Given the description of an element on the screen output the (x, y) to click on. 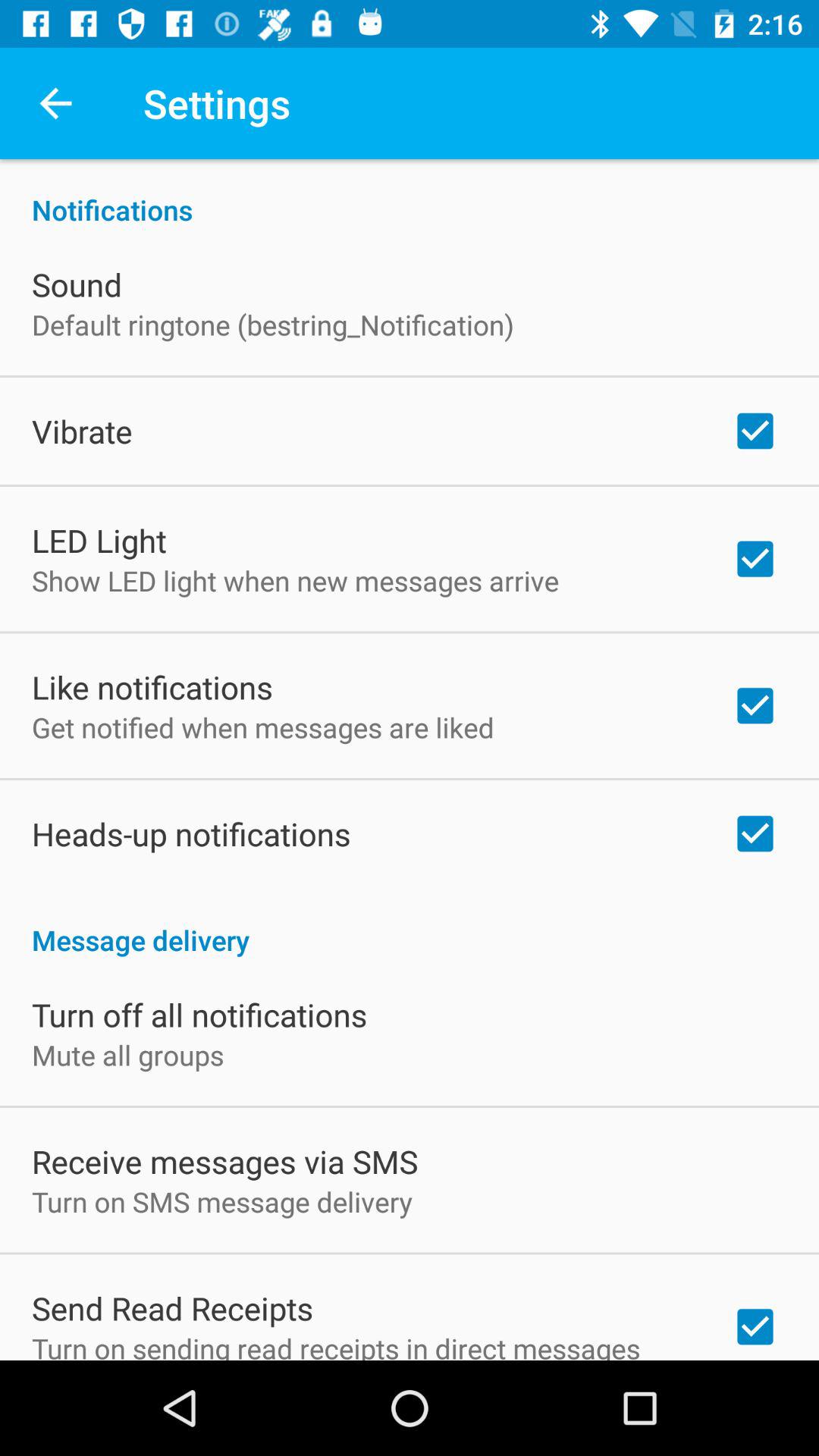
select the icon to the left of the settings icon (55, 103)
